Given the description of an element on the screen output the (x, y) to click on. 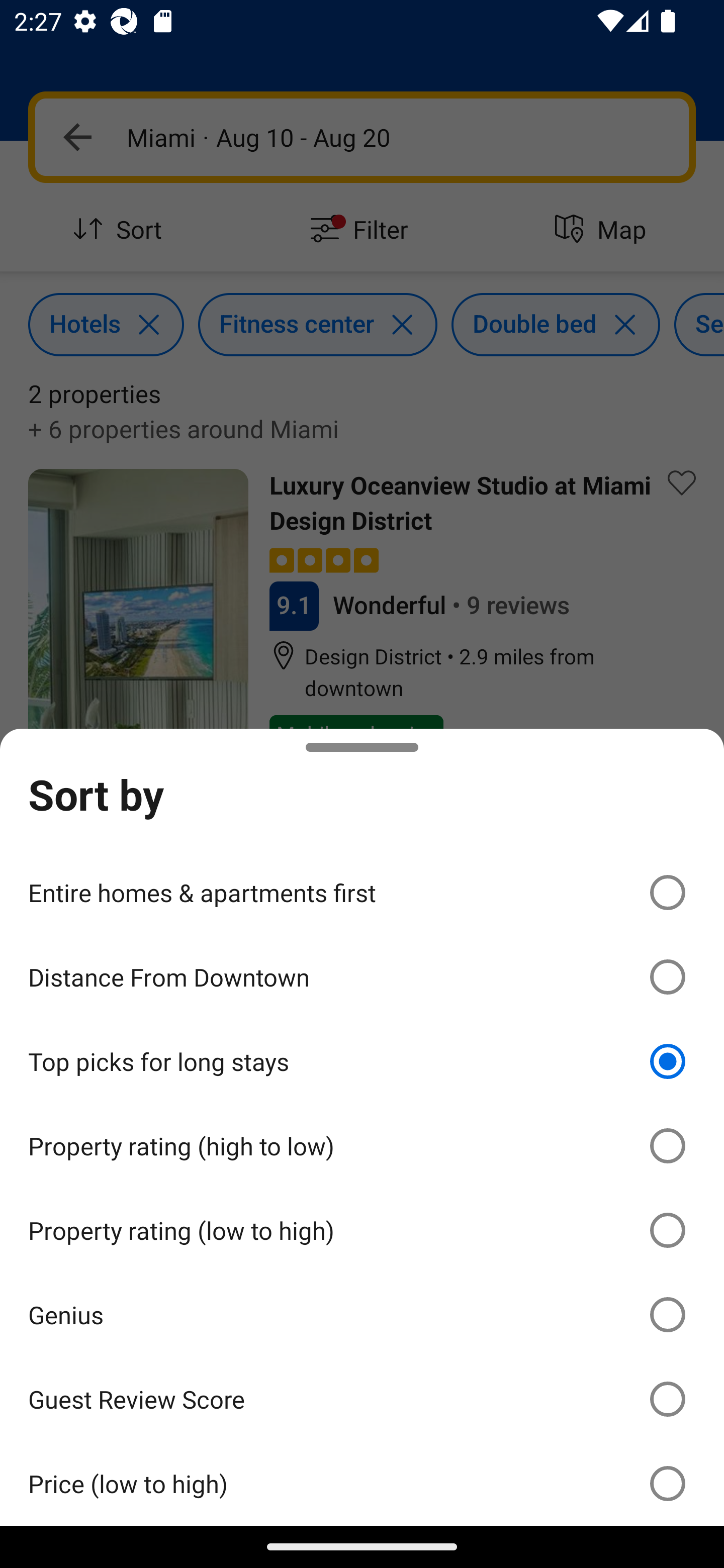
Entire homes & apartments first (362, 891)
Distance From Downtown (362, 976)
Top picks for long stays (362, 1061)
Property rating (high to low) (362, 1145)
Property rating (low to high) (362, 1230)
Genius (362, 1314)
Guest Review Score (362, 1398)
Price (low to high) (362, 1482)
